Given the description of an element on the screen output the (x, y) to click on. 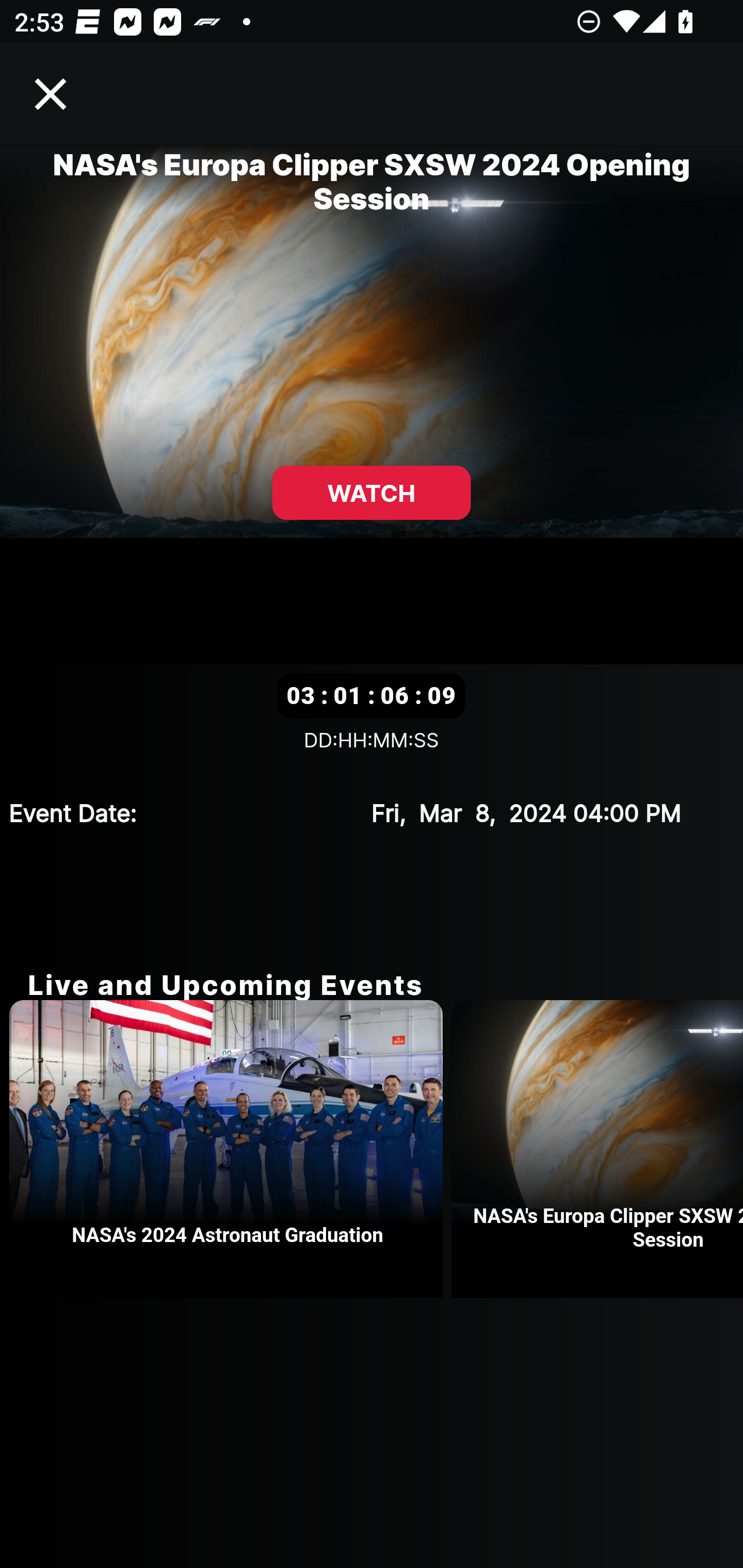
WATCH (371, 492)
NASA's 2024 Astronaut Graduation (229, 1149)
NASA's Europa Clipper SXSW 2024 Opening Session (597, 1149)
